Given the description of an element on the screen output the (x, y) to click on. 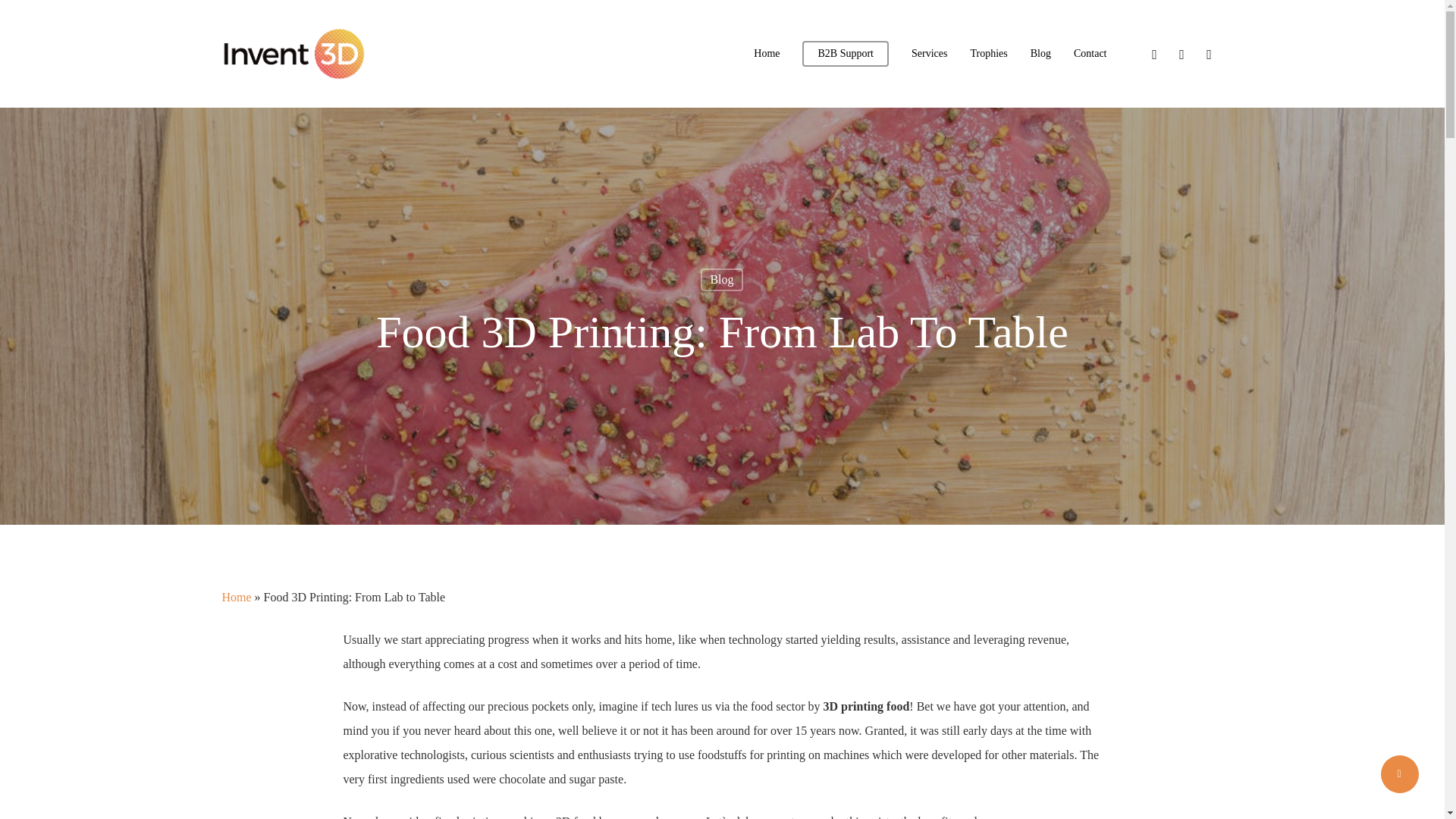
Services (929, 53)
Facebook (1153, 54)
B2B Support (845, 53)
Linkedin (1181, 54)
Instagram (1209, 54)
Home (766, 53)
Trophies (988, 53)
Blog (1040, 53)
Contact (1090, 53)
Home (235, 596)
